Given the description of an element on the screen output the (x, y) to click on. 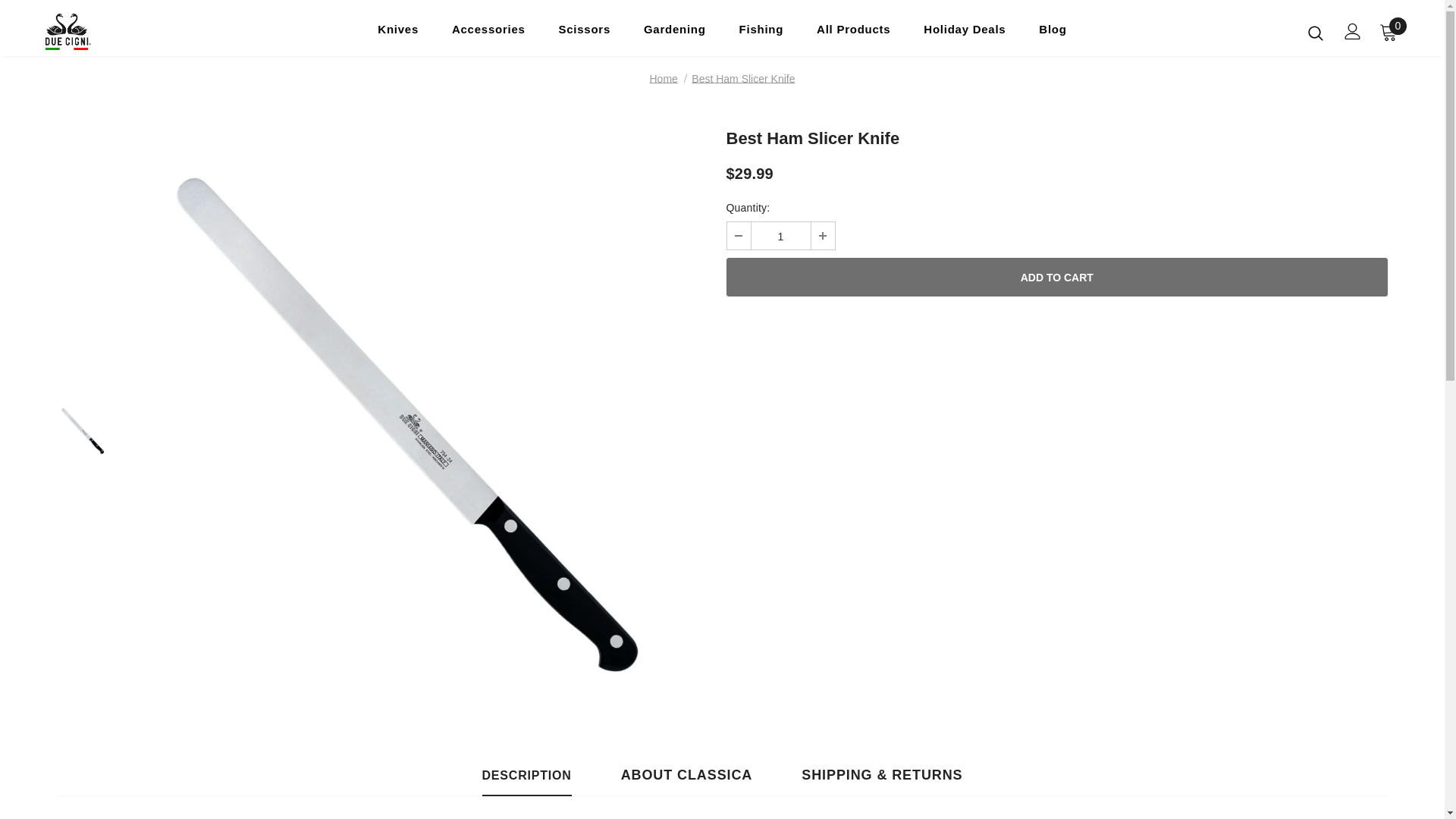
Gardening (674, 33)
1 (780, 235)
Holiday Deals (964, 33)
All Products (852, 33)
Scissors (583, 33)
Fishing (761, 33)
Logo (134, 31)
Add to cart (1057, 276)
Search Icon (1315, 32)
Knives (398, 33)
